Given the description of an element on the screen output the (x, y) to click on. 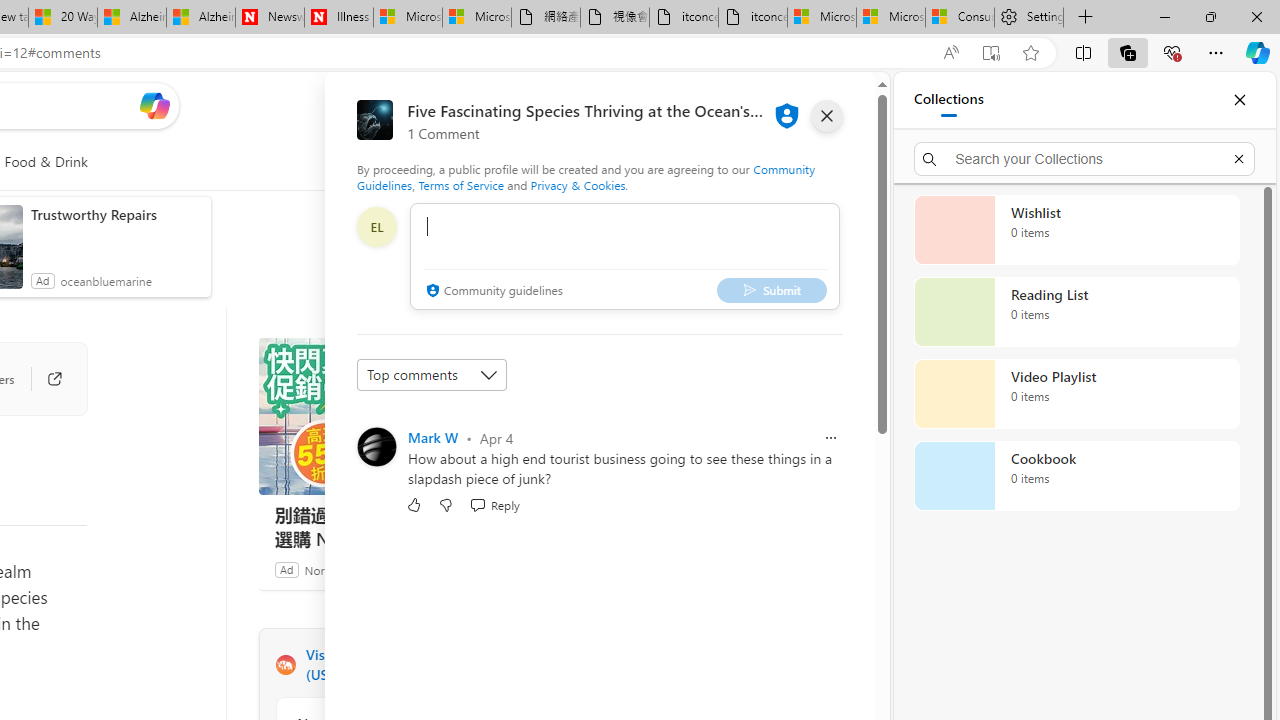
itconcepthk.com/projector_solutions.mp4 (753, 17)
Report comment (831, 437)
20 Ways to Boost Your Protein Intake at Every Meal (63, 17)
Search your Collections (1084, 158)
Personalize (511, 162)
Enter Immersive Reader (F9) (991, 53)
Open settings (830, 105)
Microsoft rewards (749, 105)
Dislike (446, 504)
Terms of Service (461, 184)
